Given the description of an element on the screen output the (x, y) to click on. 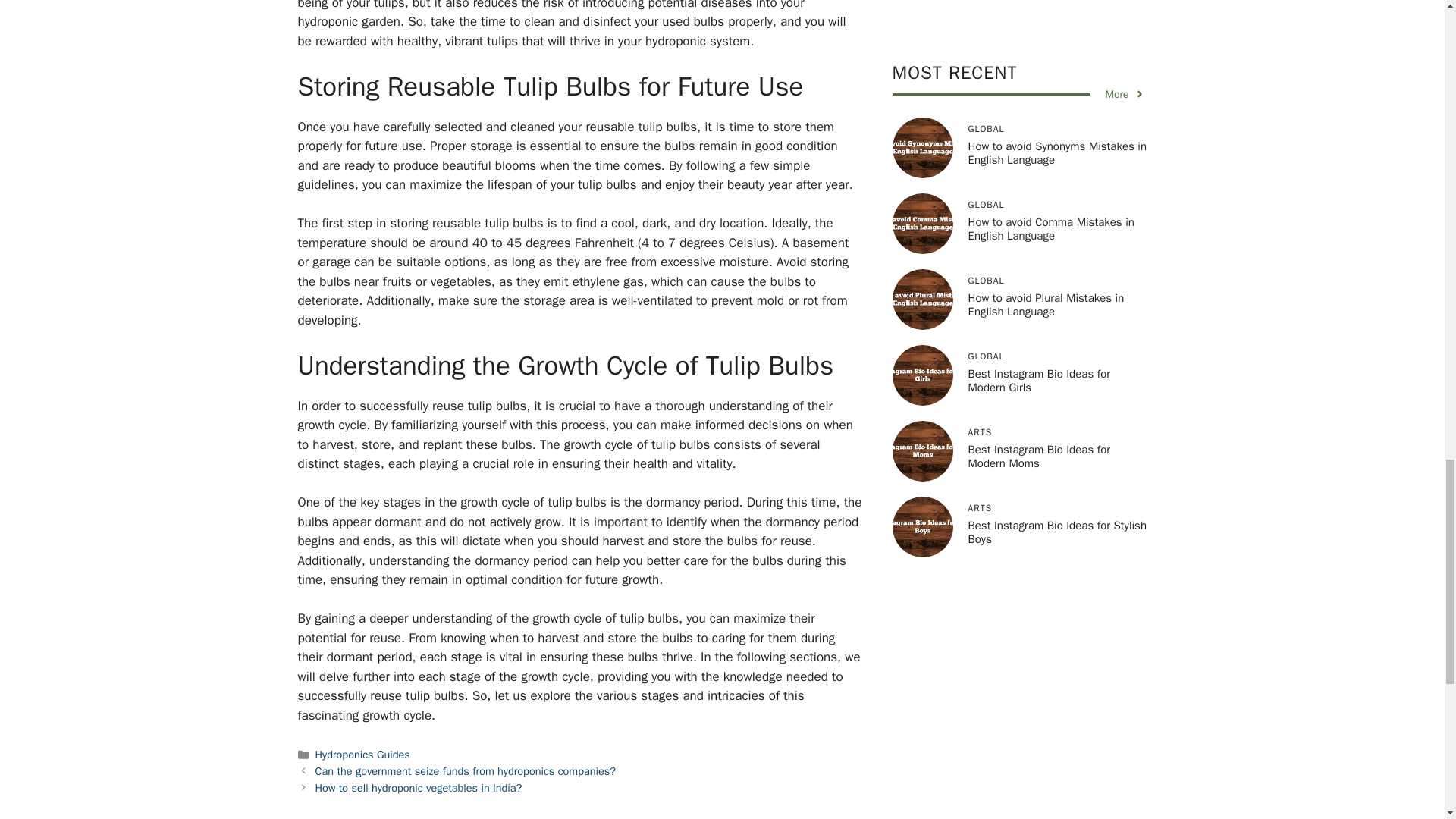
Can the government seize funds from hydroponics companies? (465, 771)
Hydroponics Guides (362, 754)
How to sell hydroponic vegetables in India? (418, 787)
